Given the description of an element on the screen output the (x, y) to click on. 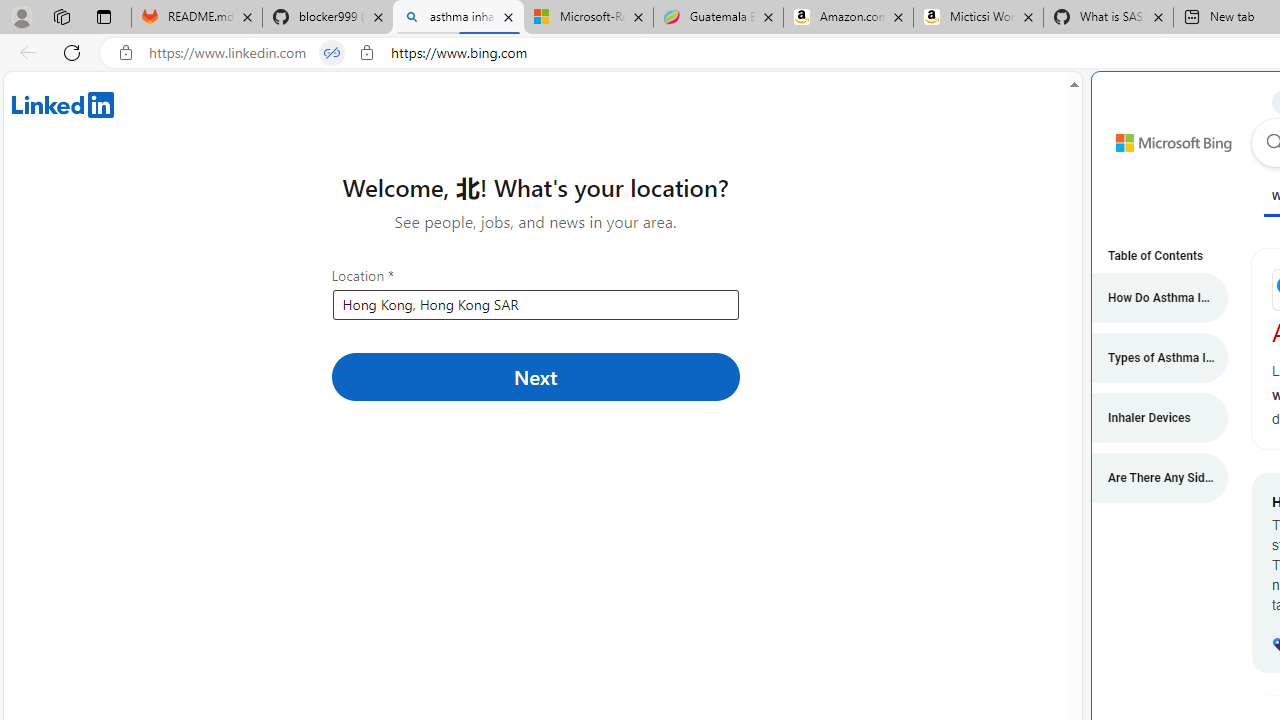
asthma inhaler - Search (458, 17)
Tabs in split screen (331, 53)
Types of Asthma Inhalers (1149, 357)
Inhaler Devices (1149, 417)
Back to Bing search (1161, 138)
